Given the description of an element on the screen output the (x, y) to click on. 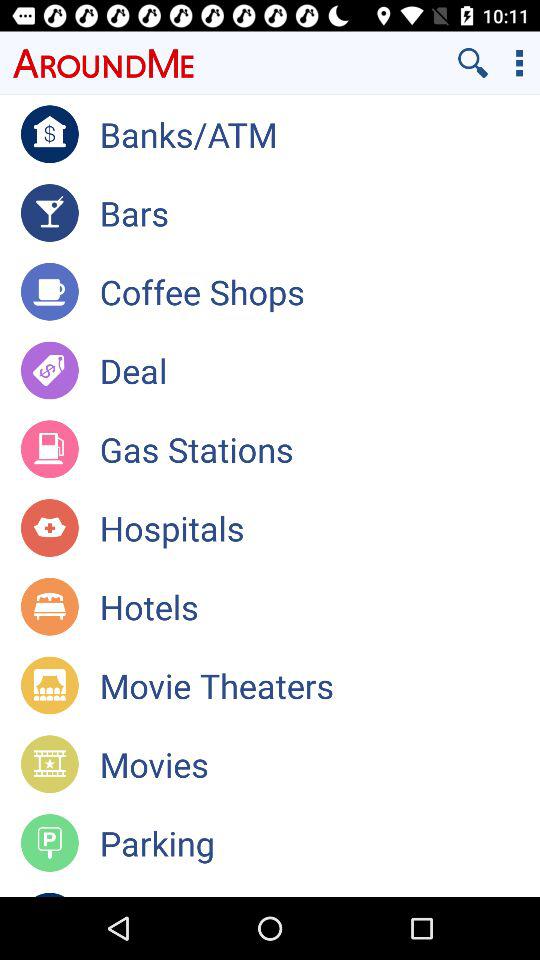
launch the icon above the deal icon (319, 291)
